Given the description of an element on the screen output the (x, y) to click on. 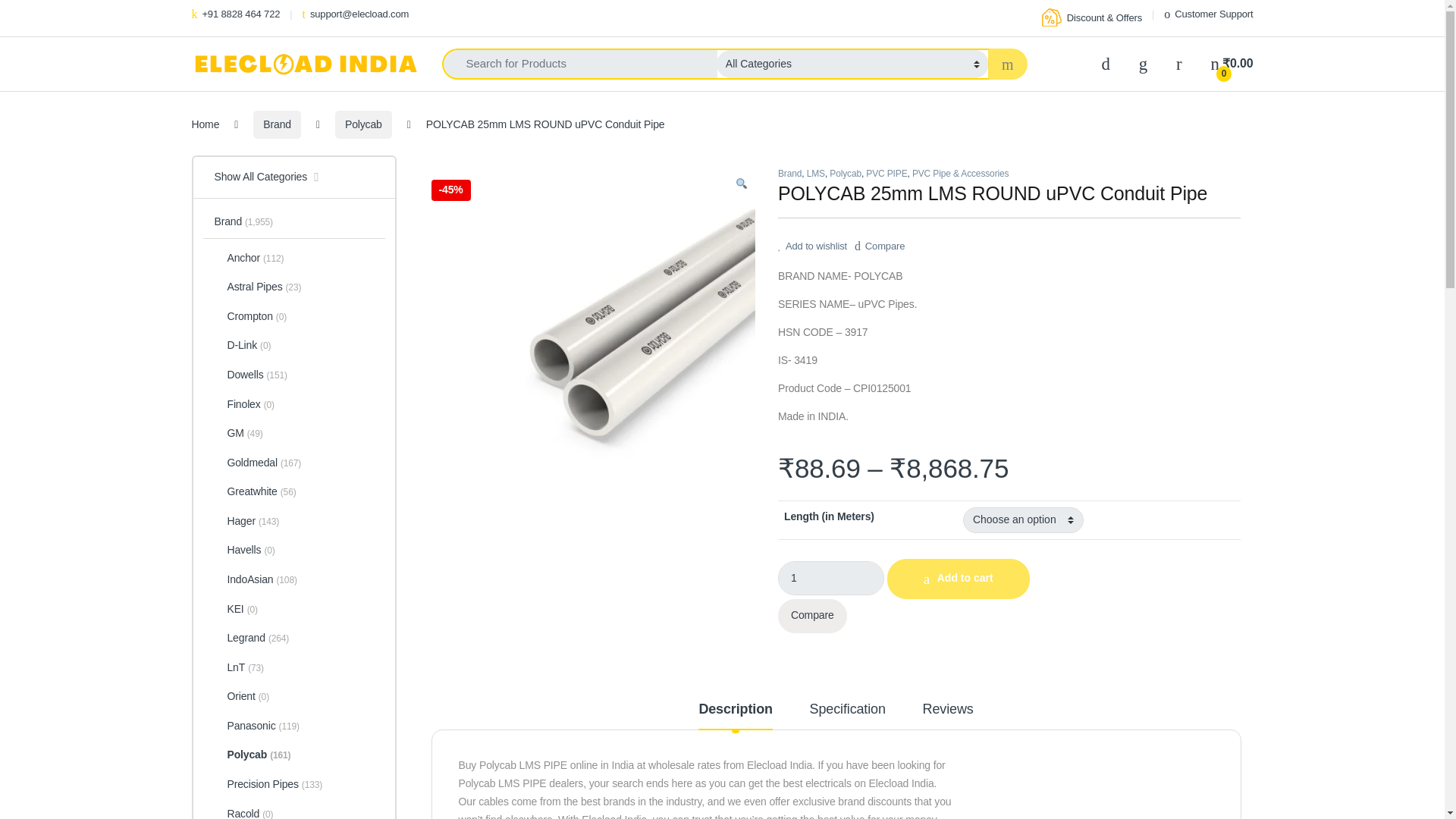
Customer Support (1207, 13)
1 (830, 578)
Customer Support (1207, 13)
